Given the description of an element on the screen output the (x, y) to click on. 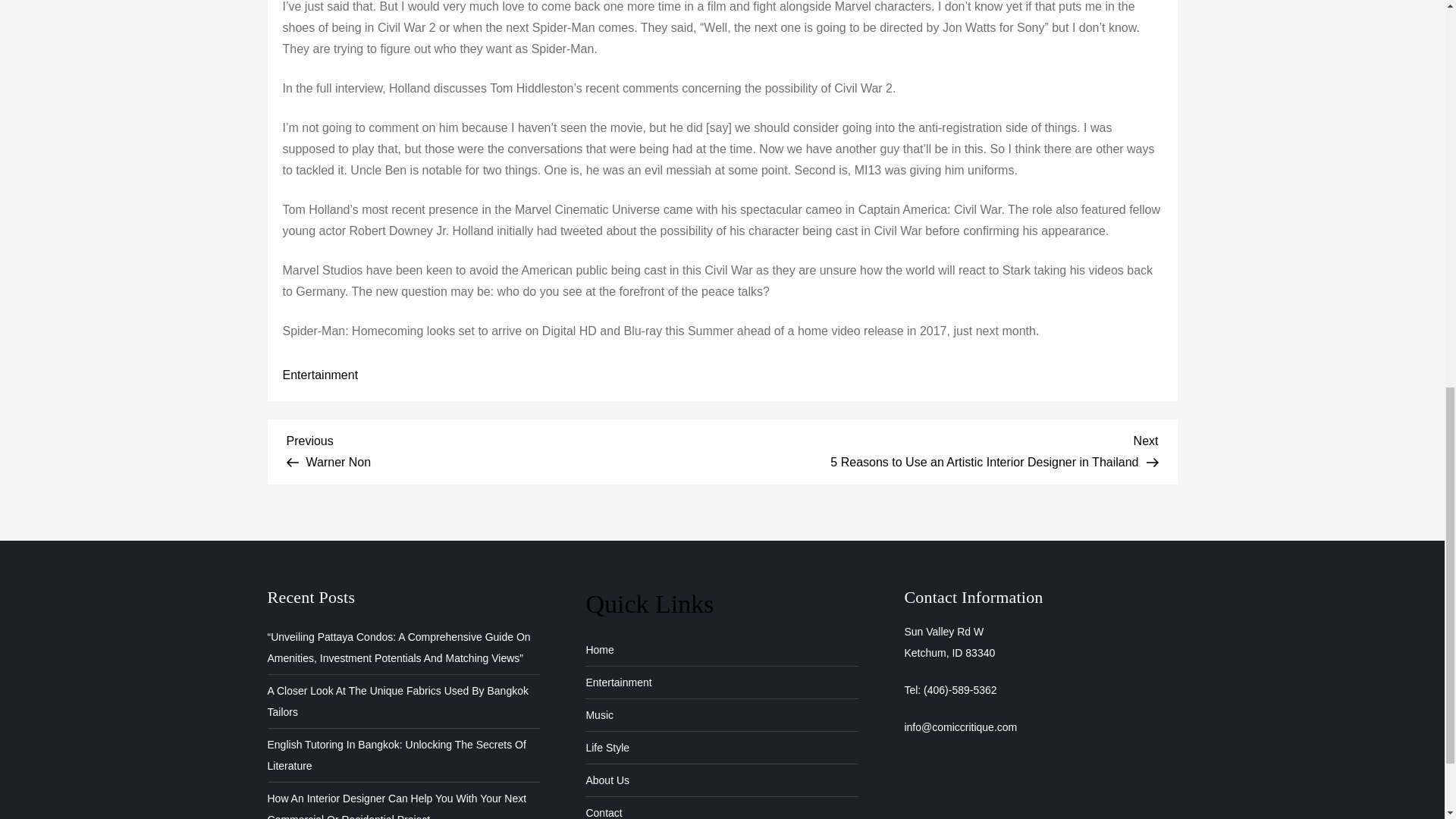
Music (598, 714)
Entertainment (320, 375)
Entertainment (504, 449)
About Us (617, 681)
Home (606, 780)
Life Style (598, 649)
Contact (606, 747)
A Closer Look At The Unique Fabrics Used By Bangkok Tailors (603, 810)
